Given the description of an element on the screen output the (x, y) to click on. 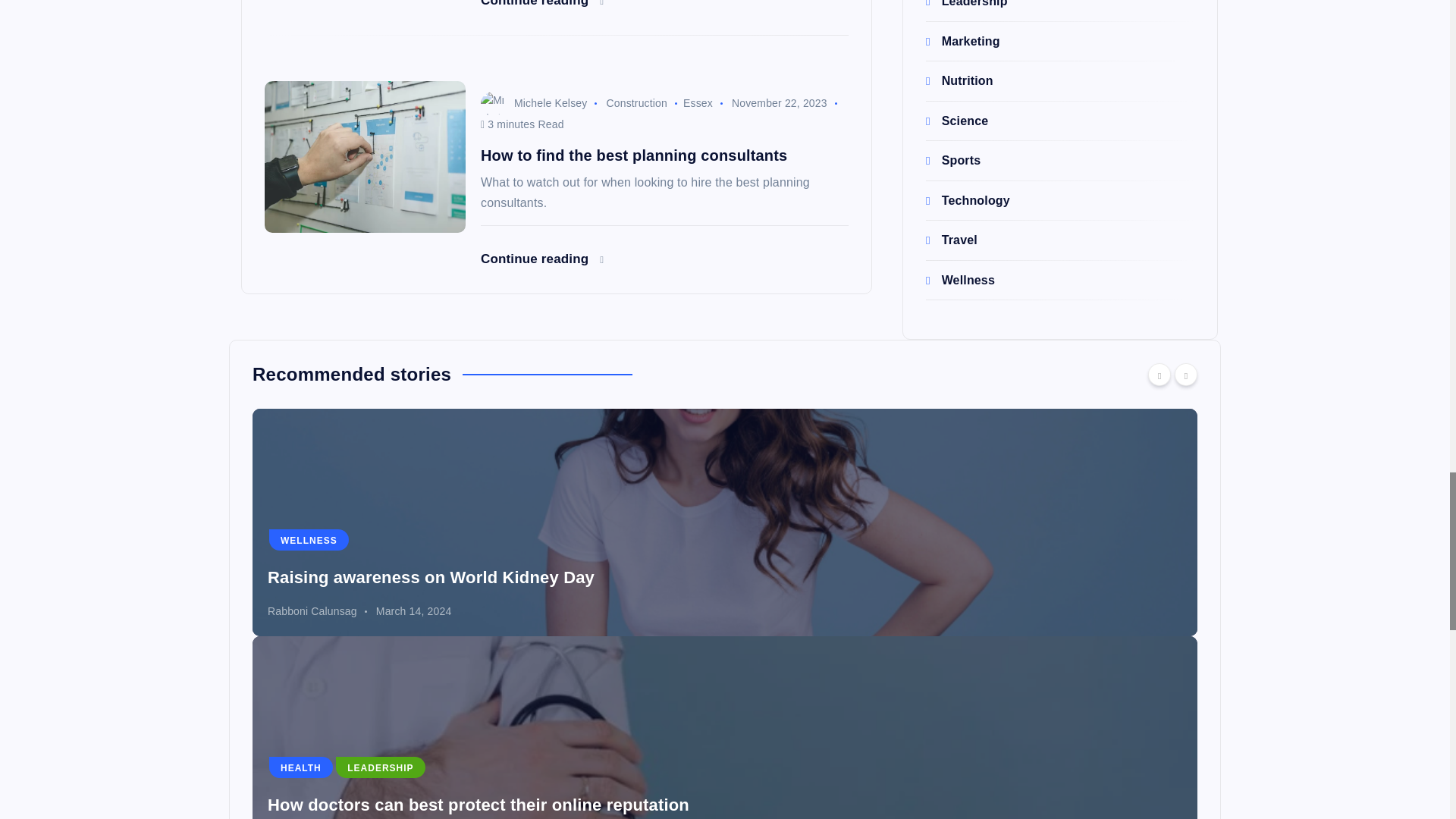
Continue reading (542, 3)
Michele Kelsey (533, 102)
Construction (635, 102)
